Given the description of an element on the screen output the (x, y) to click on. 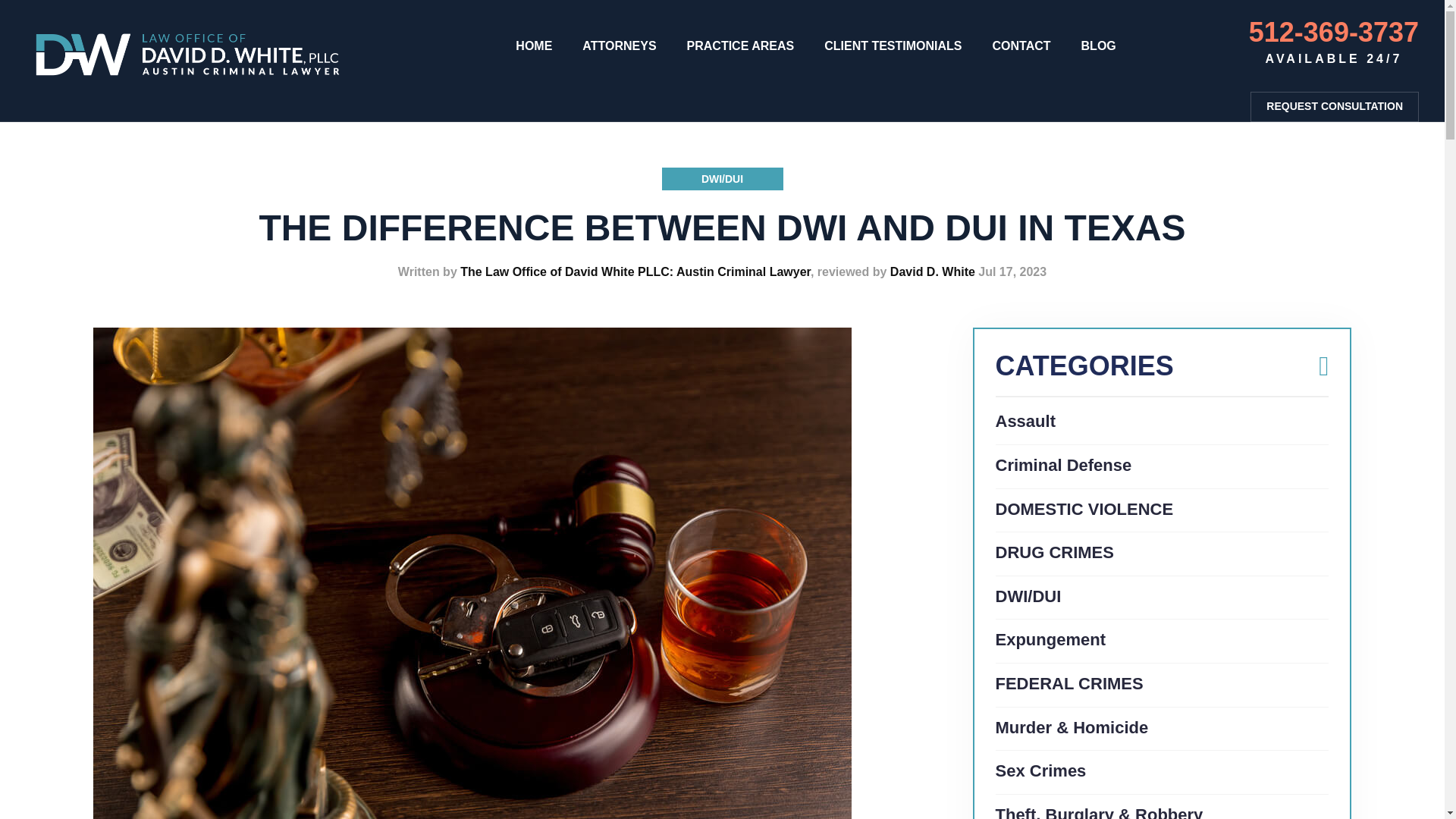
512-369-3737 (1333, 31)
Assault (1024, 420)
David D. White (932, 271)
REQUEST CONSULTATION (1334, 106)
The Law Office of David White PLLC: Austin Criminal Lawyer (635, 271)
CLIENT TESTIMONIALS (892, 45)
PRACTICE AREAS (740, 45)
CATEGORIES (1160, 373)
